Given the description of an element on the screen output the (x, y) to click on. 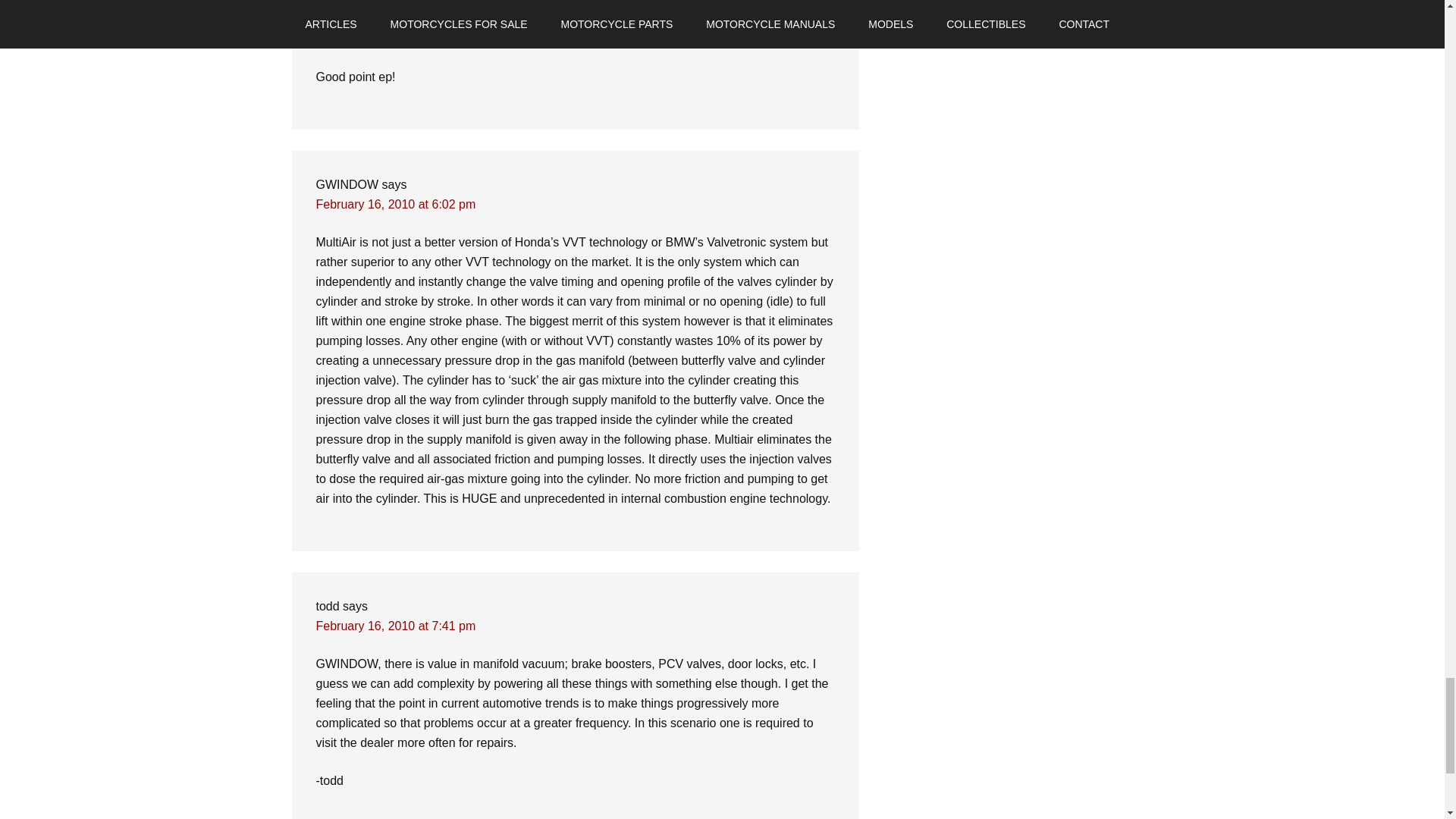
February 16, 2010 at 7:41 pm (395, 625)
March 12, 2009 at 5:35 pm (387, 38)
February 16, 2010 at 6:02 pm (395, 204)
